Given the description of an element on the screen output the (x, y) to click on. 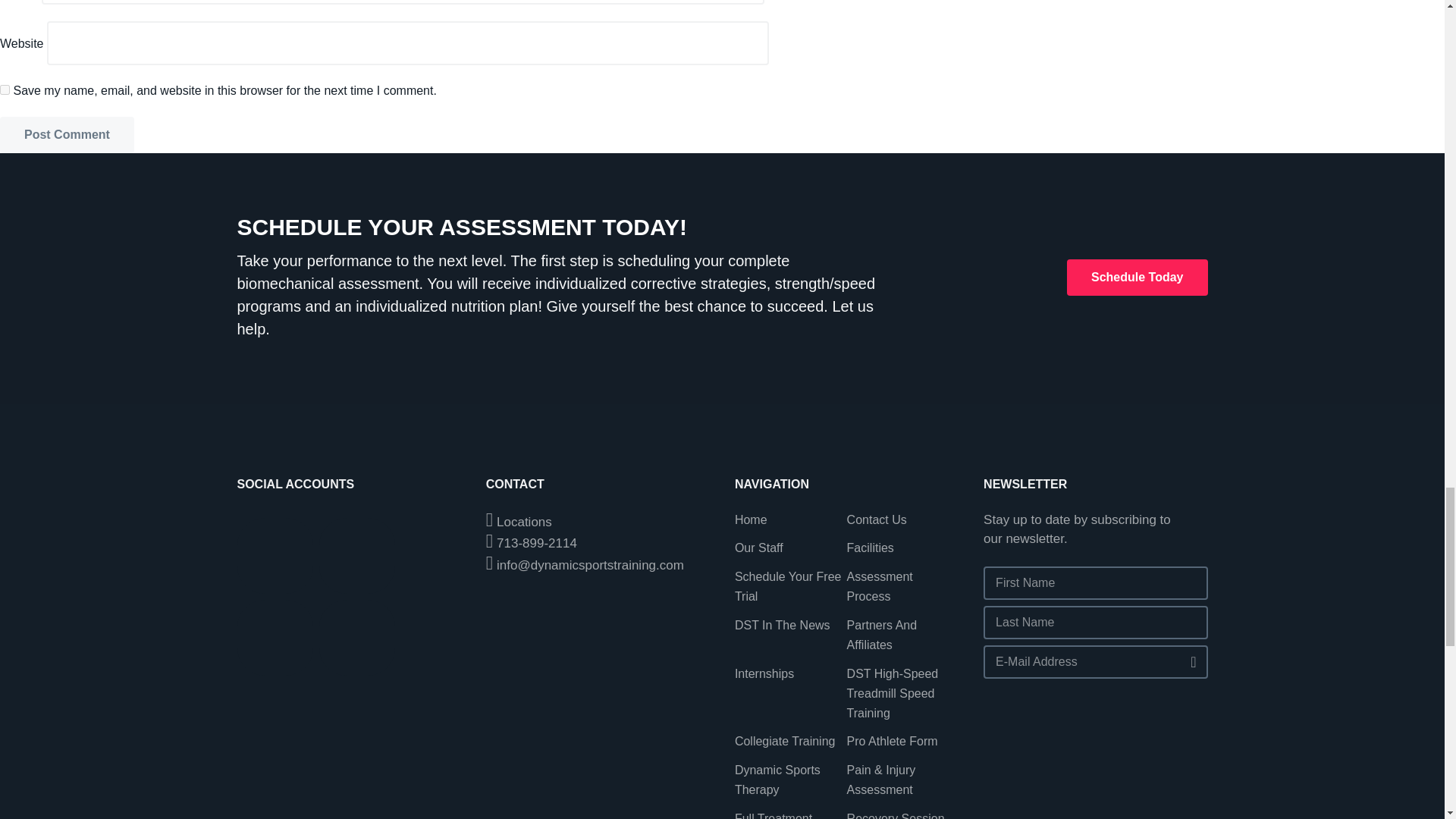
Go (1188, 658)
Post Comment (66, 135)
yes (5, 90)
